Given the description of an element on the screen output the (x, y) to click on. 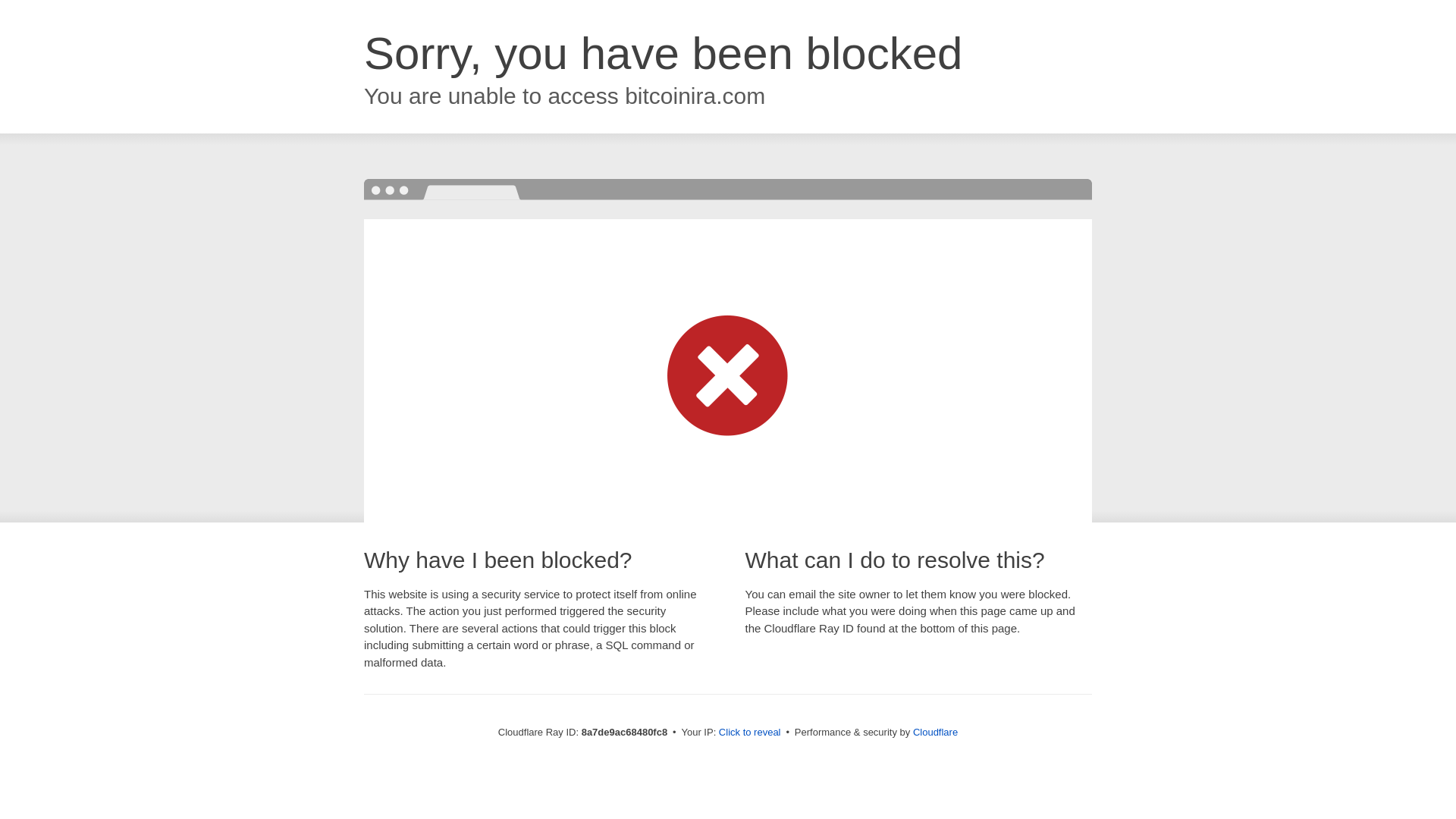
Click to reveal (749, 732)
Cloudflare (935, 731)
